Given the description of an element on the screen output the (x, y) to click on. 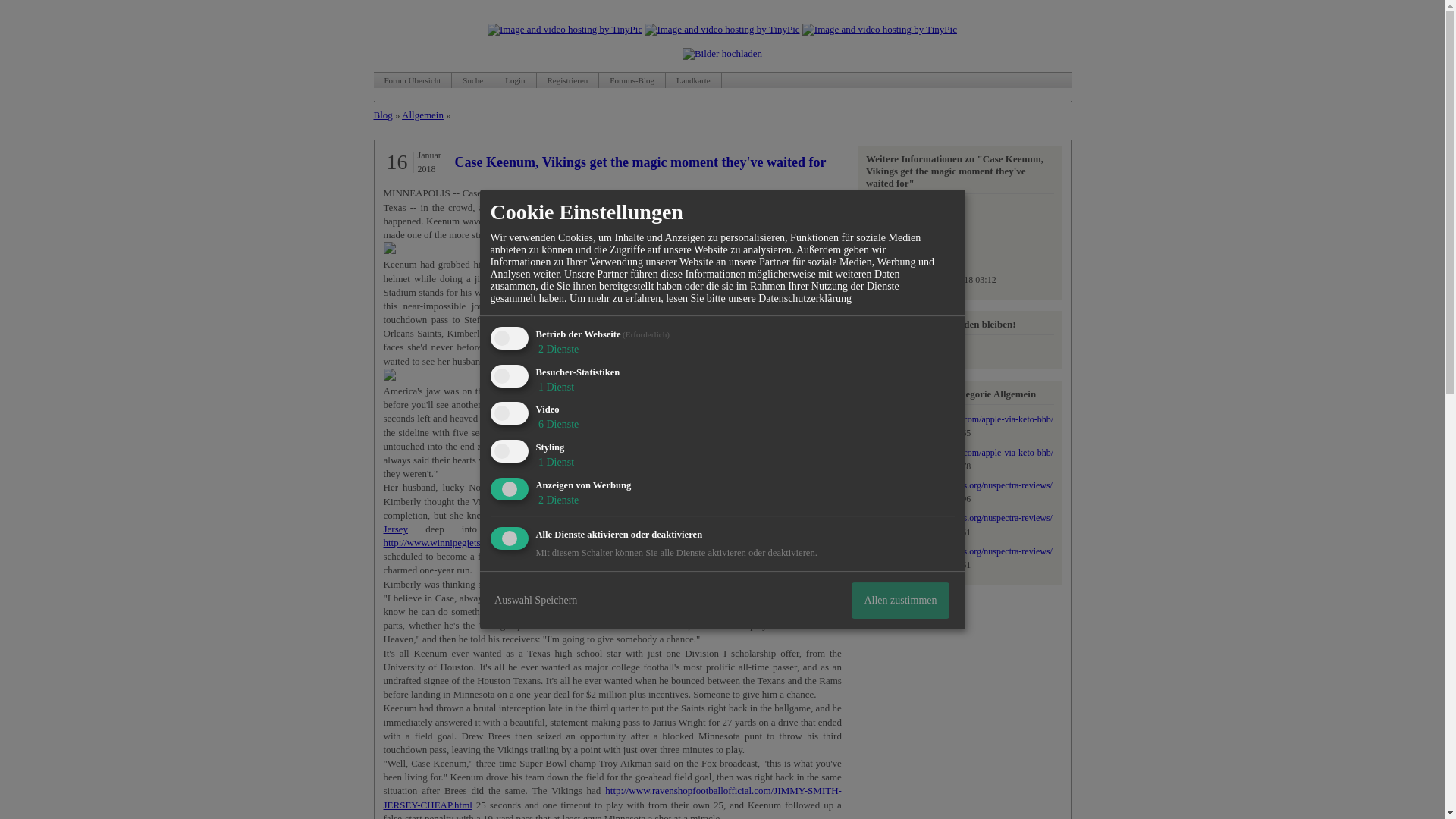
Matt Jones Youth jersey (624, 460)
Landkarte (692, 79)
Forums-Blog (631, 79)
Allgemein (924, 260)
Blog (913, 348)
RSS-Feed abonnieren (913, 348)
lucky (901, 208)
Erik Haula Authentic Jersey (734, 418)
Login (515, 79)
Alle Artikel anzeigen (908, 240)
